Given the description of an element on the screen output the (x, y) to click on. 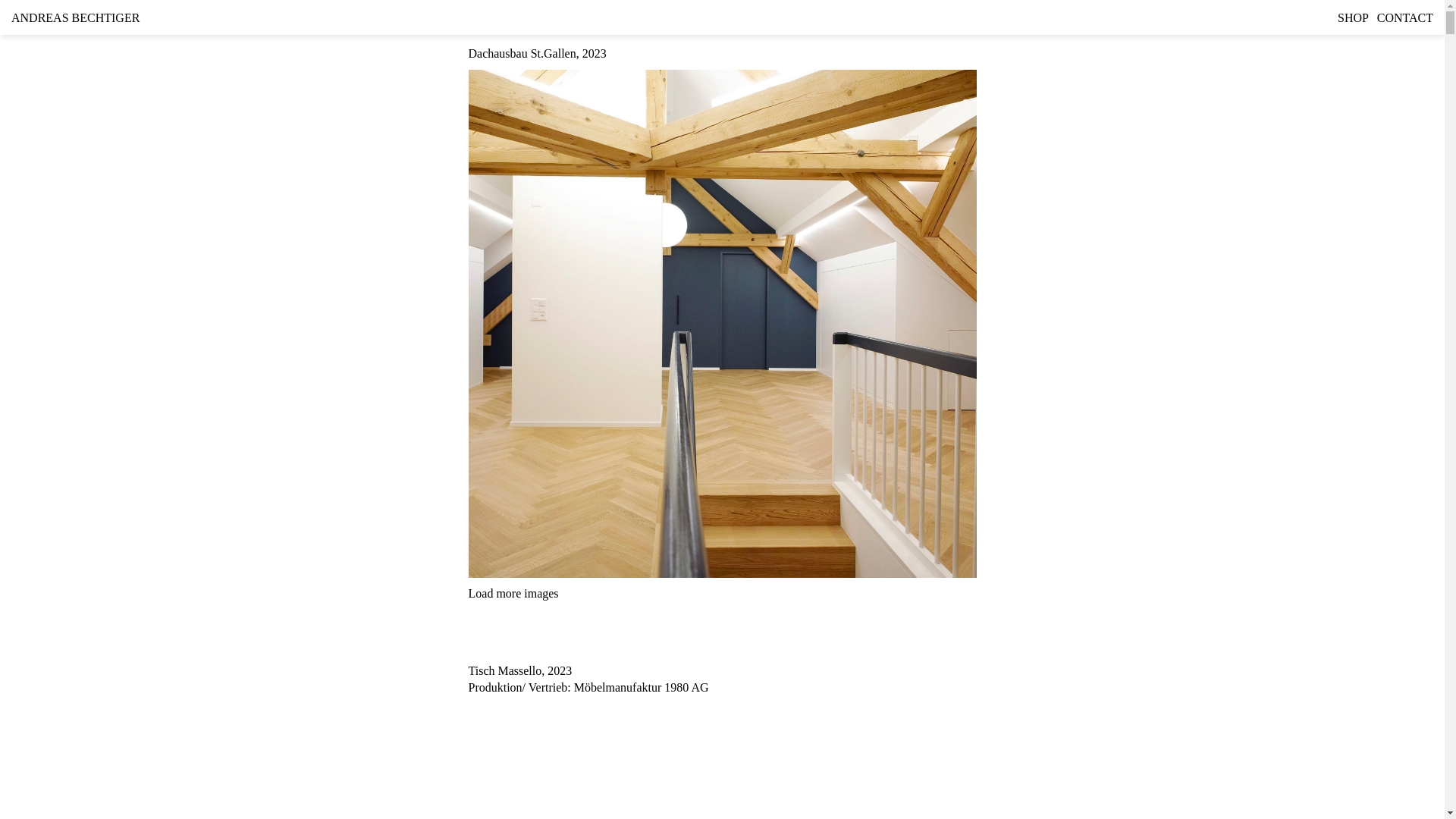
Load more images Element type: text (513, 592)
SHOP Element type: text (1352, 17)
